Given the description of an element on the screen output the (x, y) to click on. 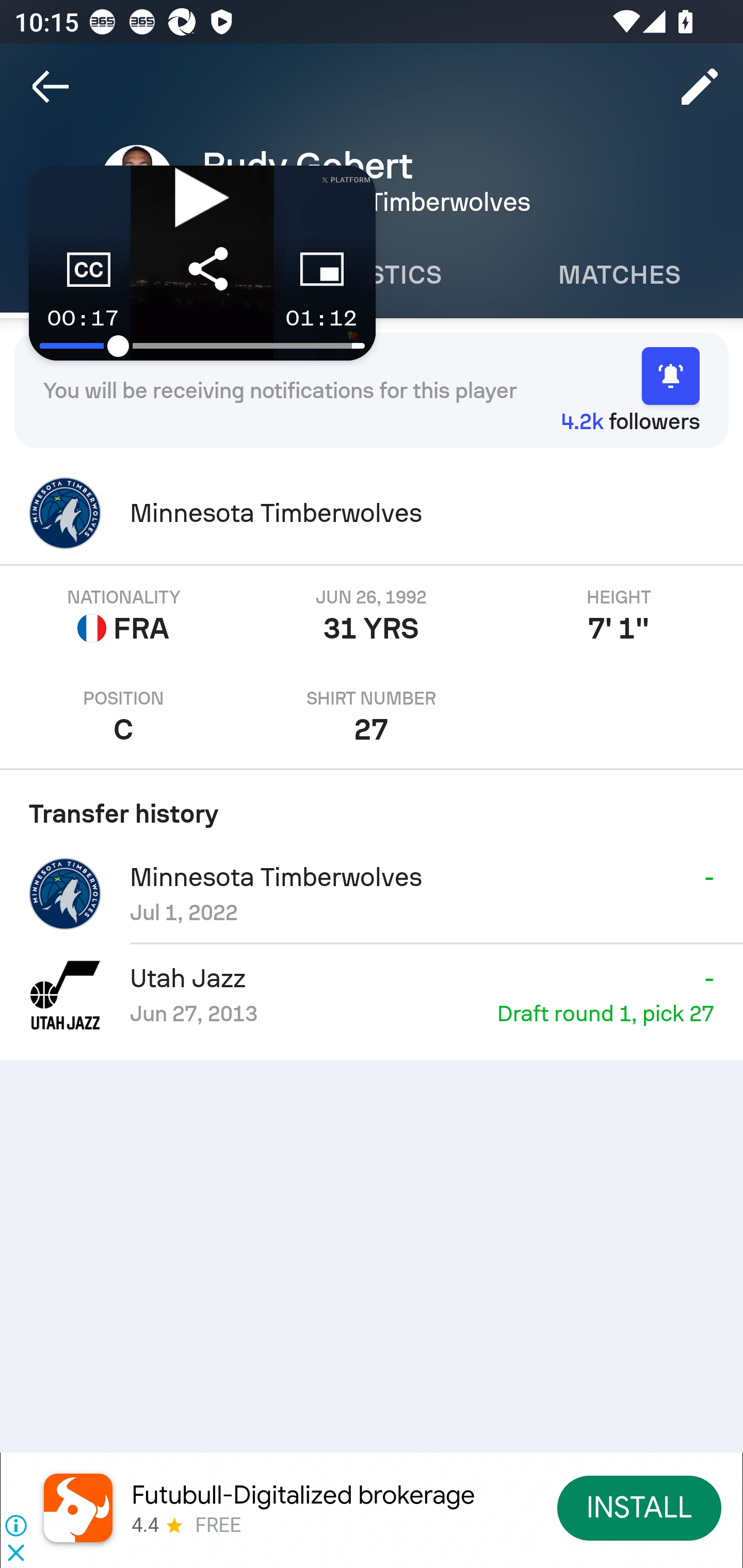
Navigate up (50, 86)
Edit (699, 86)
Matches MATCHES (619, 275)
Minnesota Timberwolves (371, 513)
NATIONALITY FRA (123, 616)
POSITION C (123, 717)
Transfer history (371, 806)
Minnesota Timberwolves - Jul 1, 2022 (371, 893)
Utah Jazz - Jun 27, 2013 Draft round 1, pick 27 (371, 994)
INSTALL (639, 1507)
Futubull-Digitalized brokerage (302, 1494)
